Given the description of an element on the screen output the (x, y) to click on. 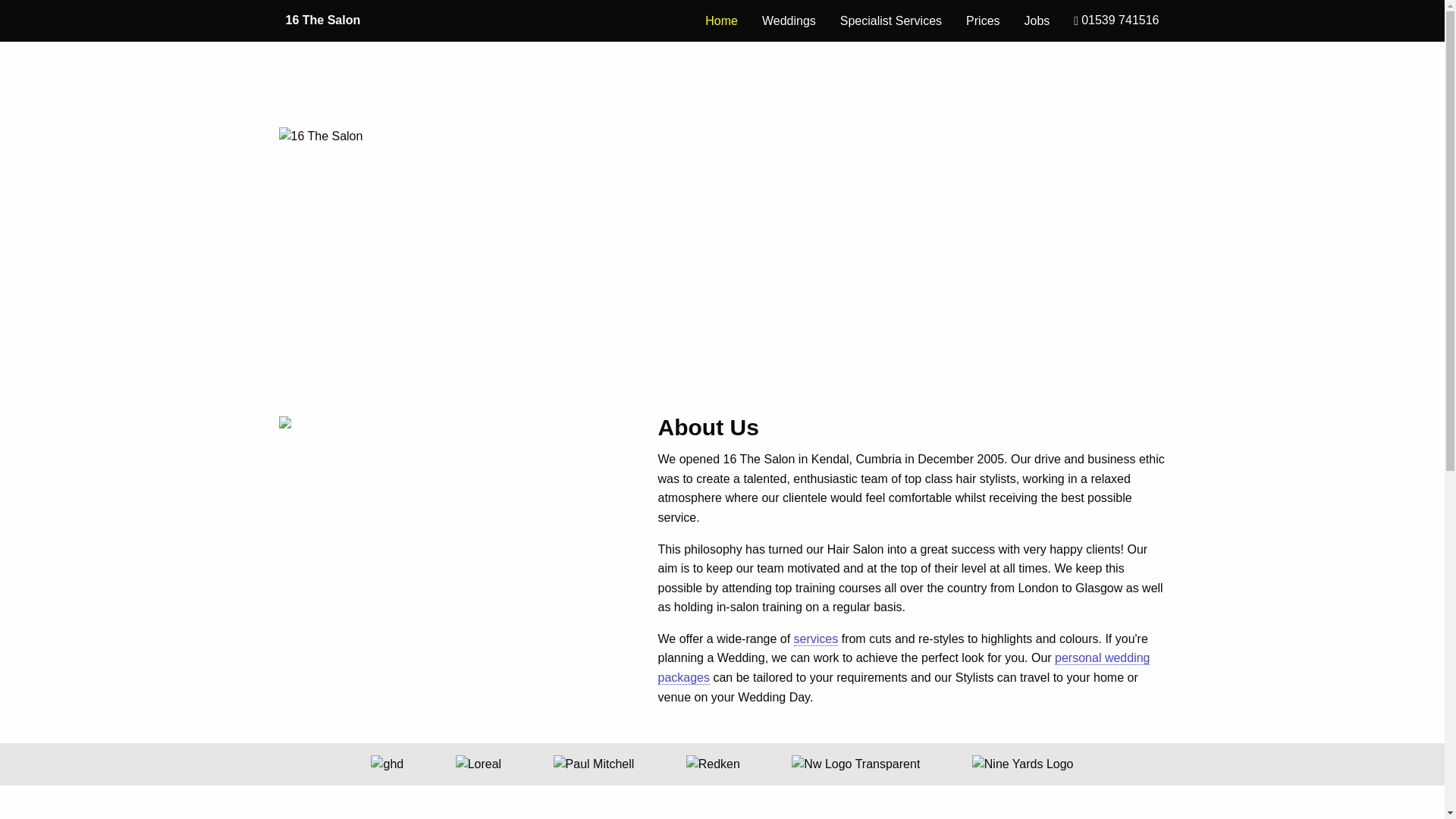
Jobs Element type: text (1037, 20)
01539 741516 Element type: text (1115, 20)
Prices Element type: text (982, 20)
16 The Salon Element type: text (322, 20)
Weddings Element type: text (788, 20)
services Element type: text (815, 639)
Specialist Services Element type: text (890, 20)
Home Element type: text (721, 20)
personal wedding packages Element type: text (904, 667)
